Given the description of an element on the screen output the (x, y) to click on. 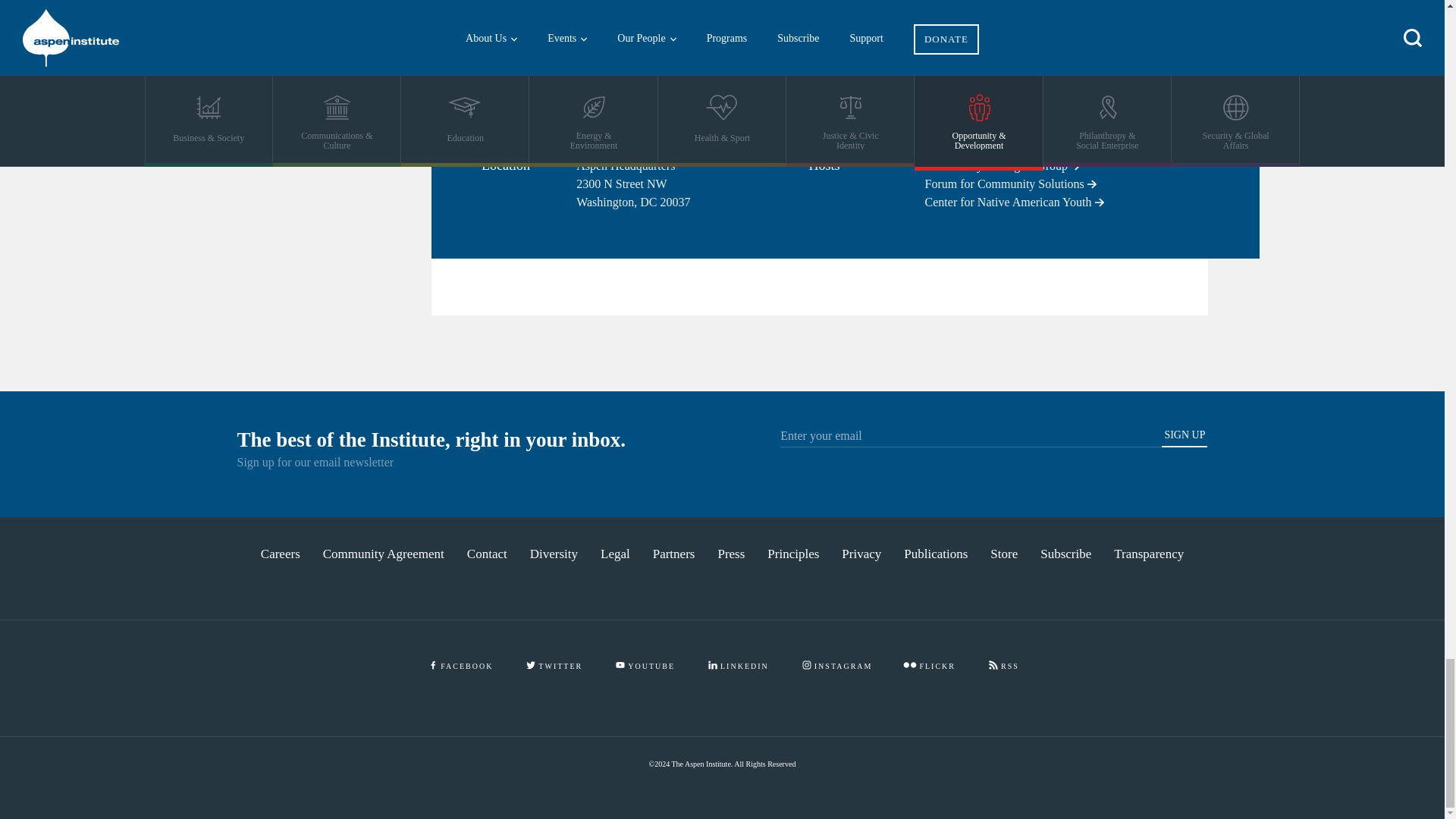
SIGN UP (1184, 438)
